Given the description of an element on the screen output the (x, y) to click on. 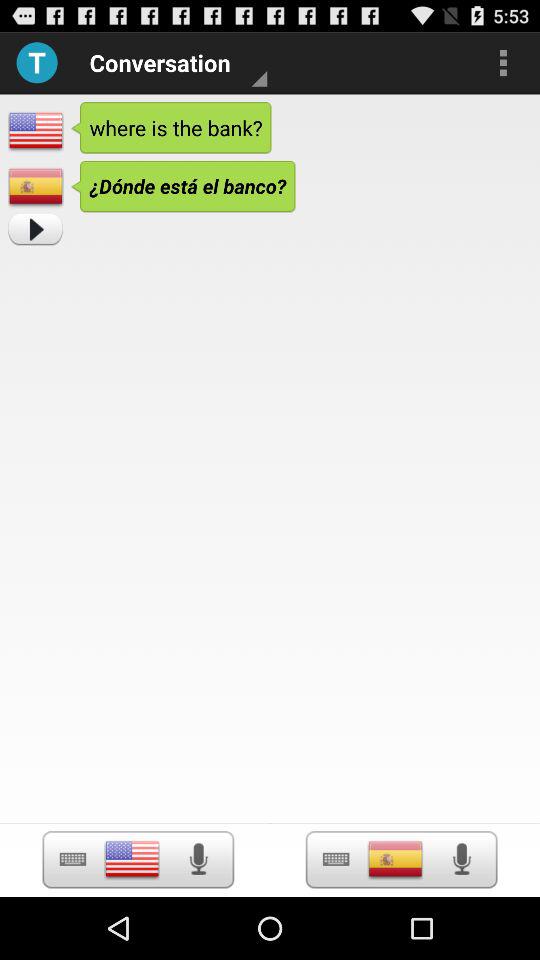
go to voice record option (198, 859)
